Given the description of an element on the screen output the (x, y) to click on. 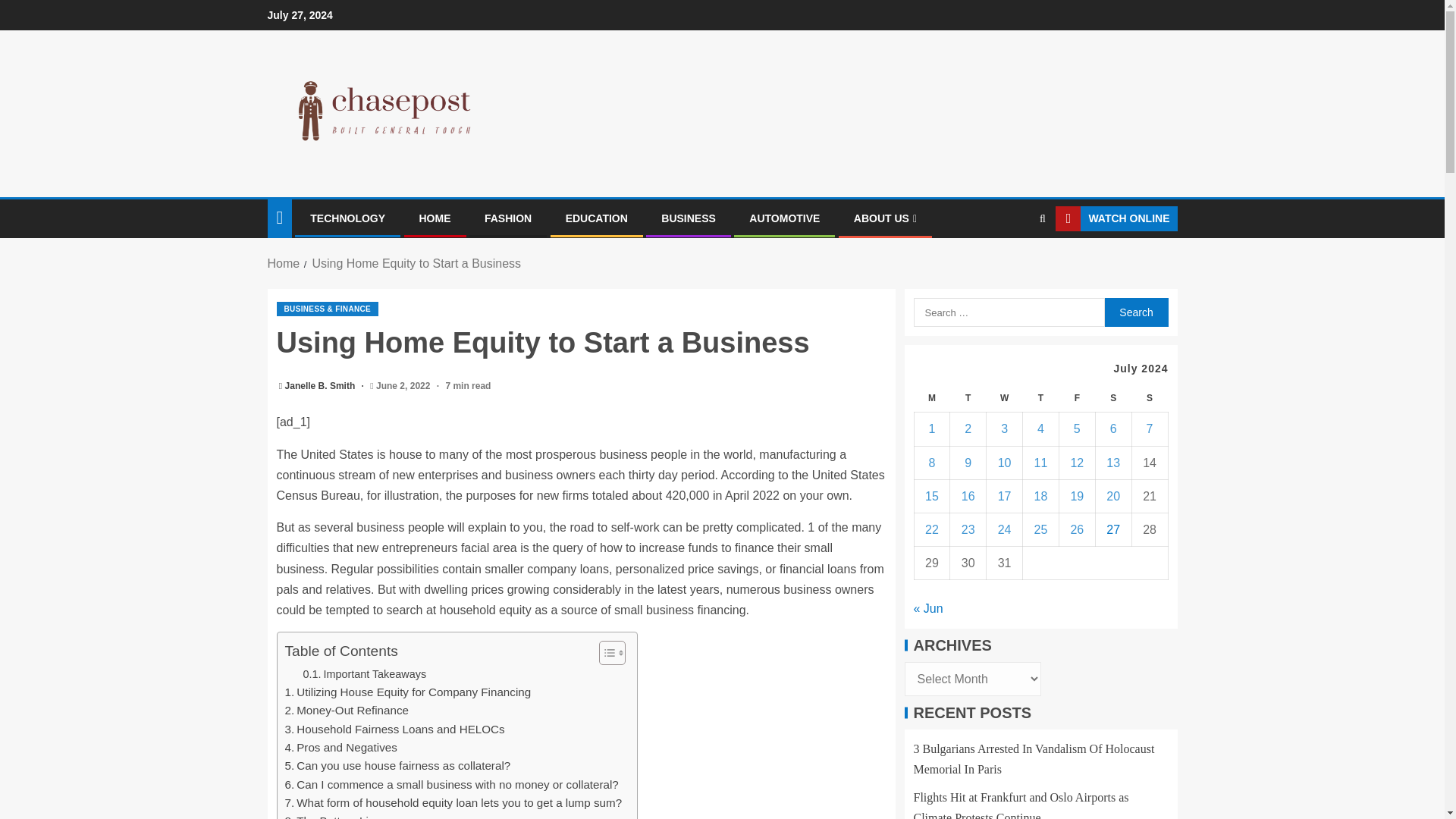
Pros and Negatives (341, 747)
Can I commence a small business with no money or collateral? (451, 784)
Utilizing House Equity for Company Financing (408, 692)
The Bottom Line (333, 815)
Money-Out Refinance (347, 710)
AUTOMOTIVE (784, 218)
Monday (932, 398)
Household Fairness Loans and HELOCs (395, 729)
Important Takeaways (364, 674)
Pros and Negatives (341, 747)
HOME (434, 218)
Home (282, 263)
Tuesday (968, 398)
Utilizing House Equity for Company Financing (408, 692)
